Given the description of an element on the screen output the (x, y) to click on. 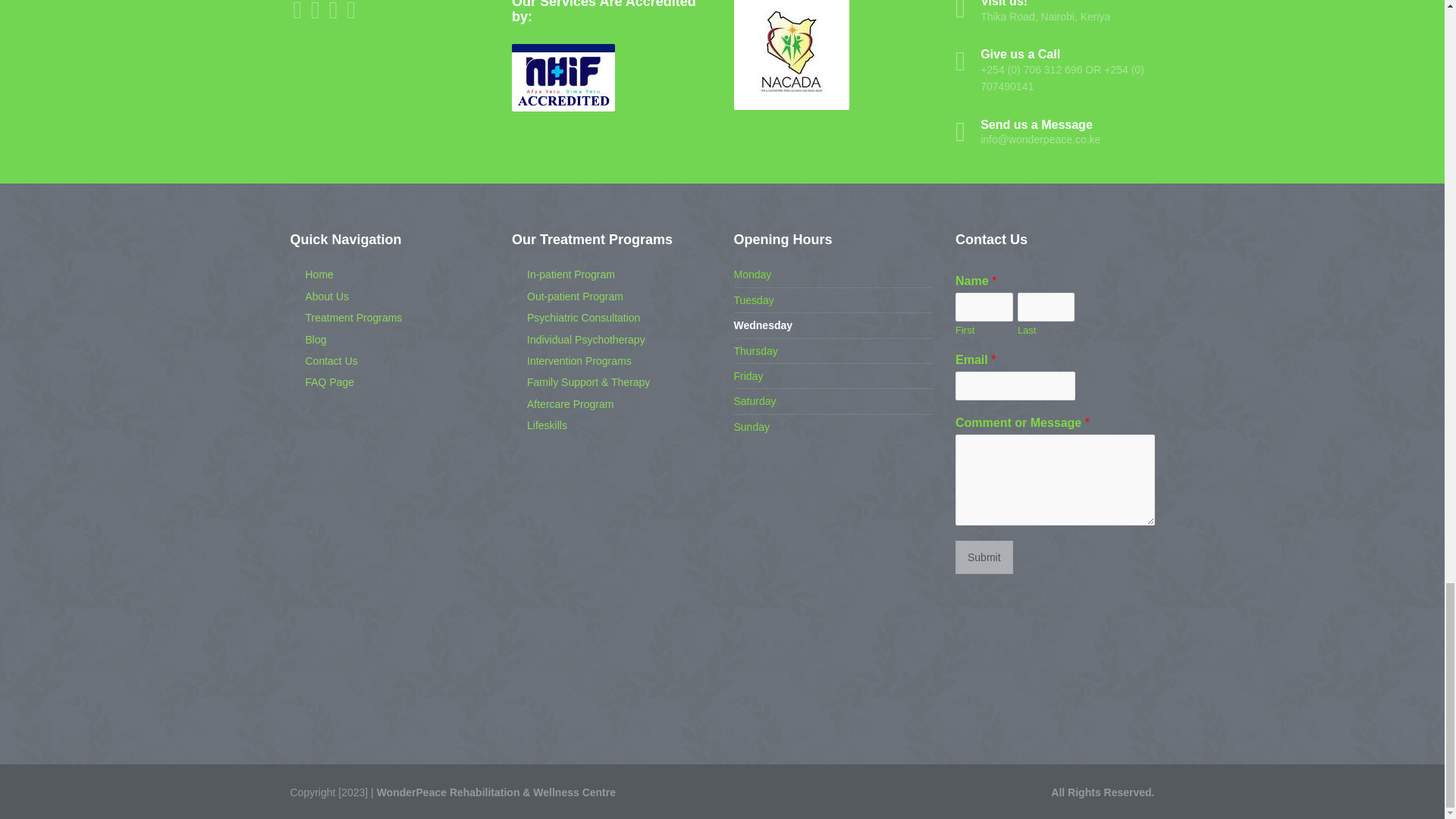
Our Services Are Accredited by (563, 77)
About Us (319, 296)
Facebook Page Plugin (389, 651)
Treatment Programs (345, 317)
Home (311, 274)
